Given the description of an element on the screen output the (x, y) to click on. 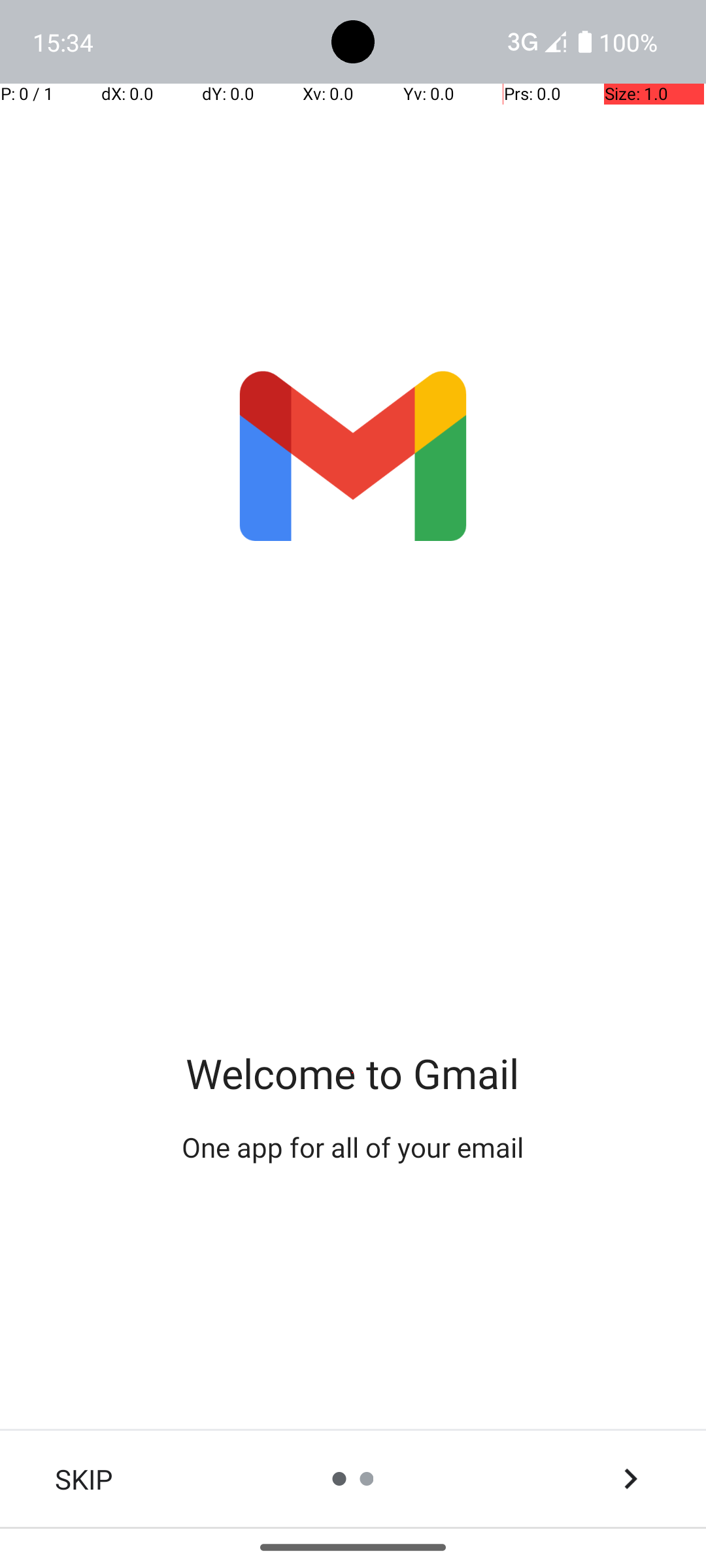
SKIP Element type: android.widget.TextView (83, 1478)
Next Element type: android.widget.ImageView (630, 1478)
Welcome to Gmail Element type: android.widget.TextView (352, 1072)
One app for all of your email Element type: android.widget.TextView (352, 1146)
